Given the description of an element on the screen output the (x, y) to click on. 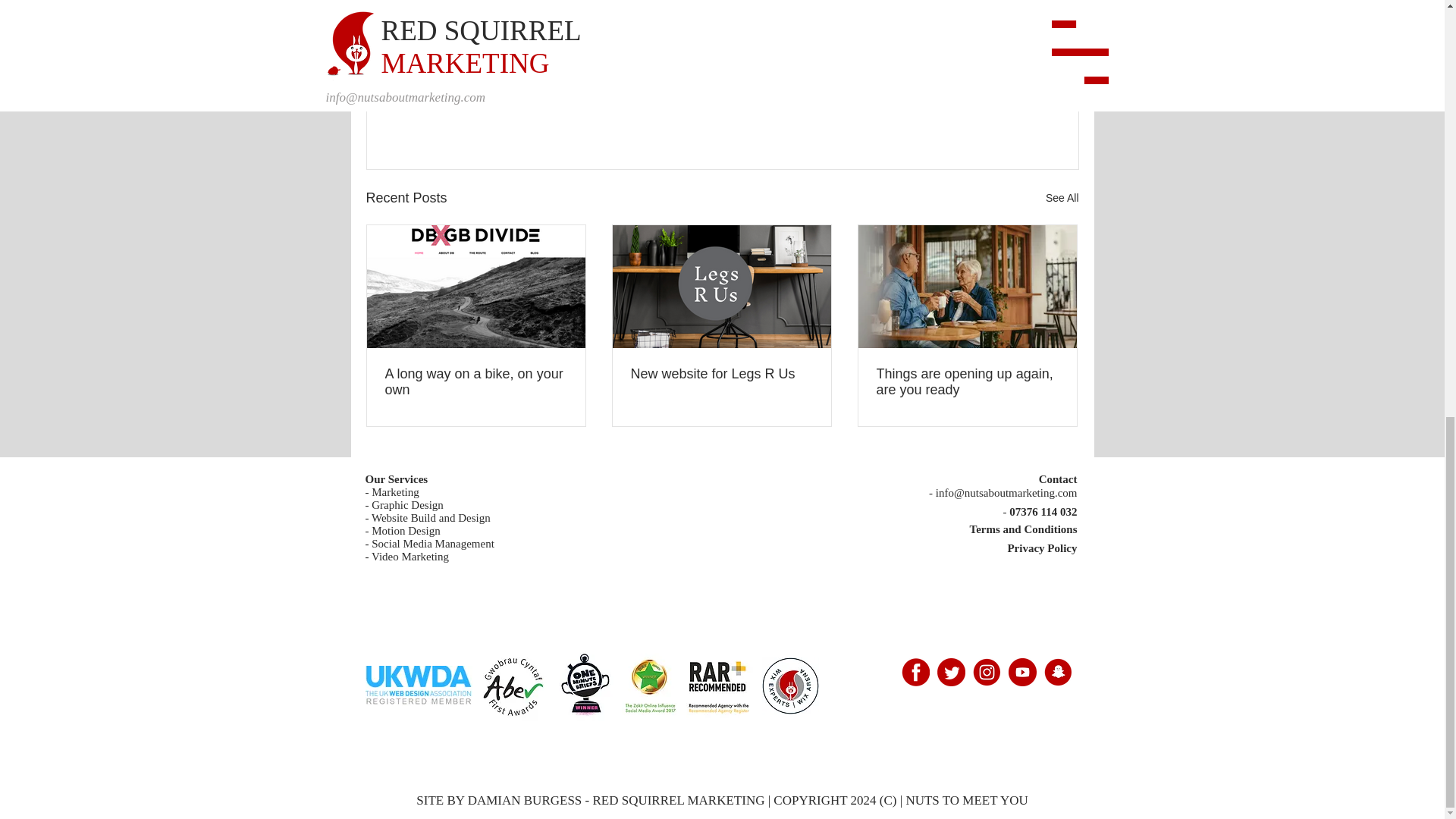
Privacy Policy (1042, 548)
Website Build and Design (430, 517)
A long way on a bike, on your own (476, 382)
Things are opening up again, are you ready (967, 382)
Graphic Design (407, 504)
Marketing (395, 491)
Terms and Conditions (1023, 529)
Motion Design (405, 530)
Video Marketing (409, 556)
Social Media Management  (433, 543)
